Given the description of an element on the screen output the (x, y) to click on. 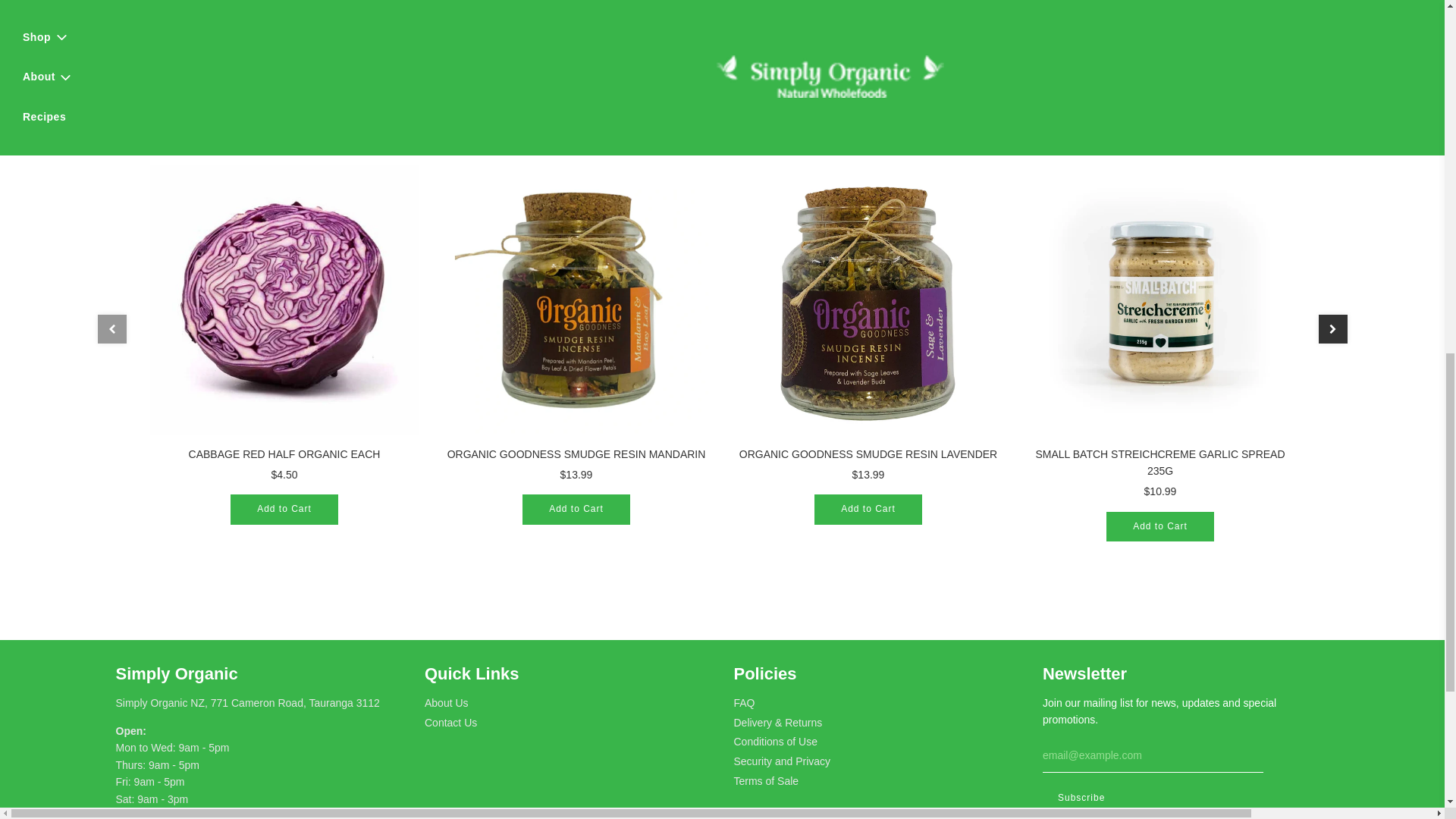
ORGANIC GOODNESS SMUDGE RESIN LAVENDER (868, 299)
Subscribe (1080, 797)
SMALL BATCH STREICHCREME GARLIC SPREAD 235G (1159, 299)
CABBAGE RED HALF ORGANIC EACH (284, 299)
ORGANIC GOODNESS SMUDGE RESIN MANDARIN (575, 299)
